Given the description of an element on the screen output the (x, y) to click on. 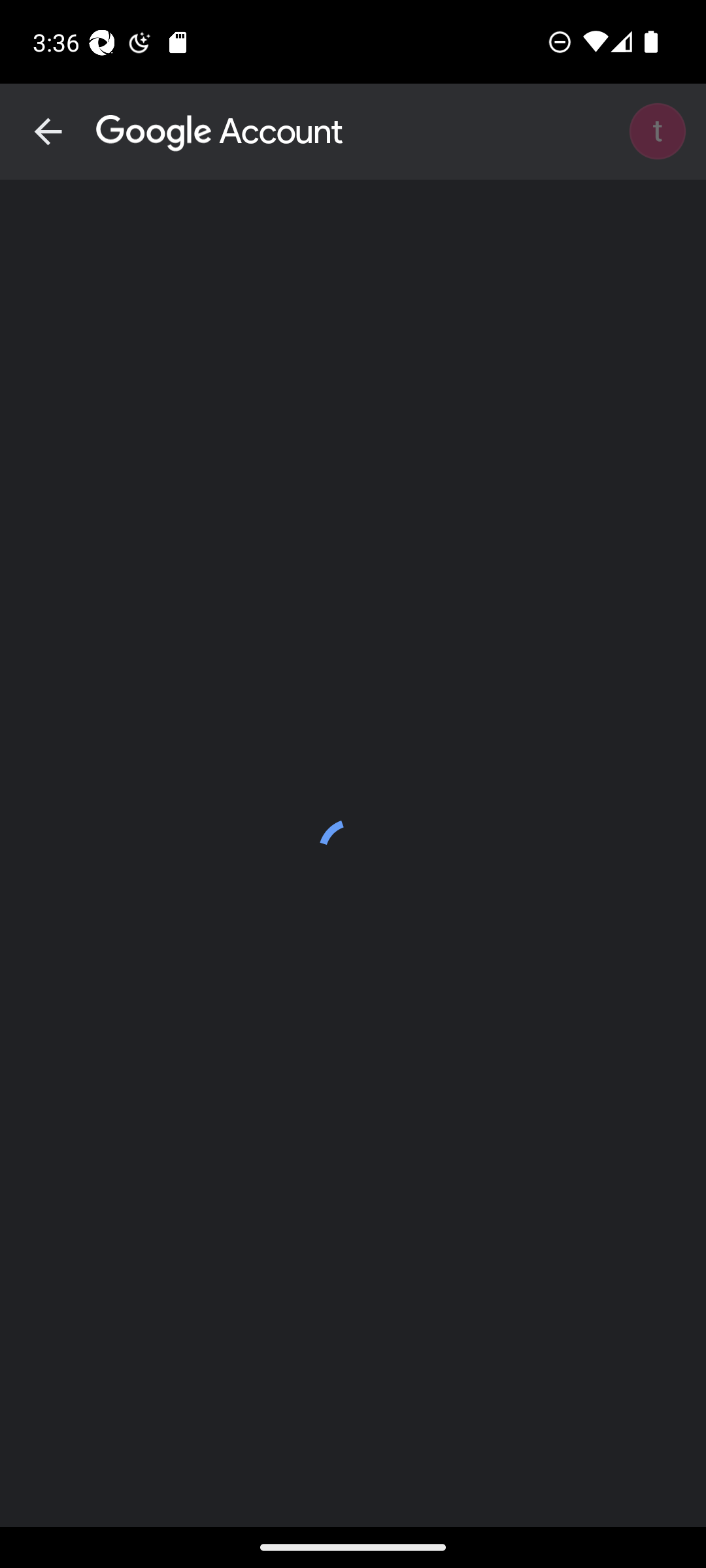
Navigate up (48, 131)
